Given the description of an element on the screen output the (x, y) to click on. 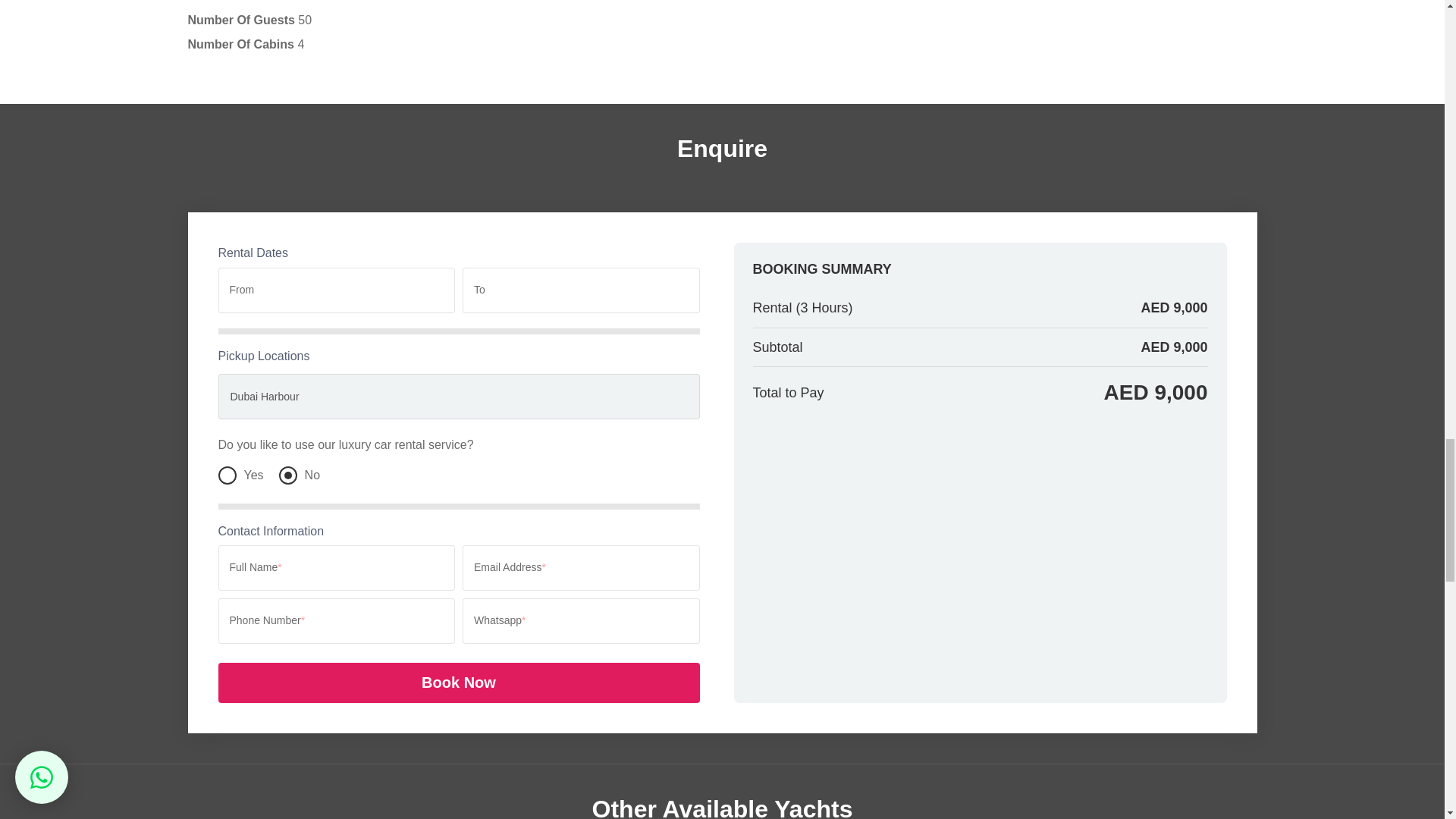
Dubai Harbour (459, 396)
